Given the description of an element on the screen output the (x, y) to click on. 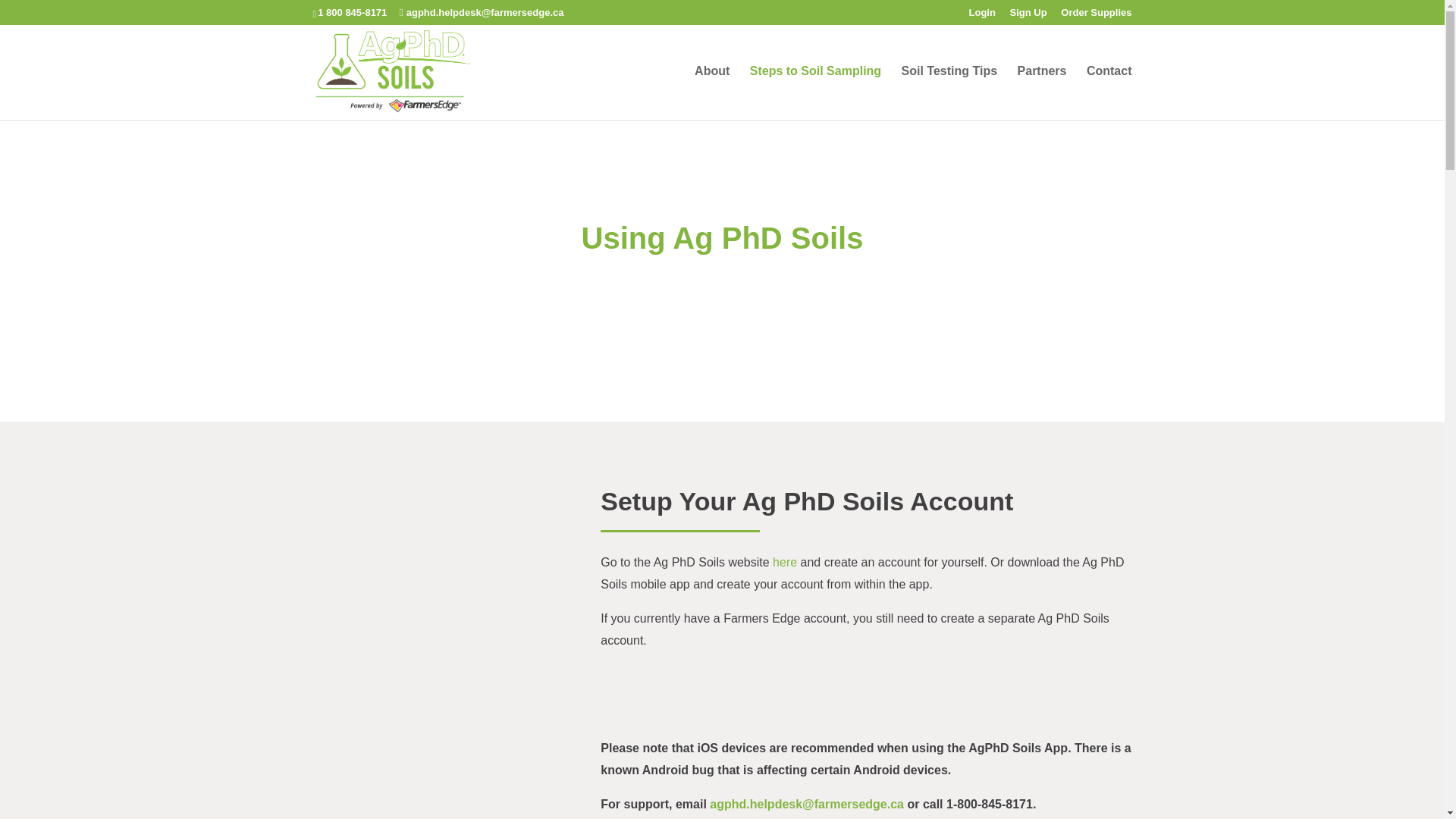
here (784, 562)
Partners (1042, 92)
Order Supplies (1096, 16)
Steps to Soil Sampling (814, 92)
Login (982, 16)
Soil Testing Tips (949, 92)
Sign Up (1028, 16)
